Given the description of an element on the screen output the (x, y) to click on. 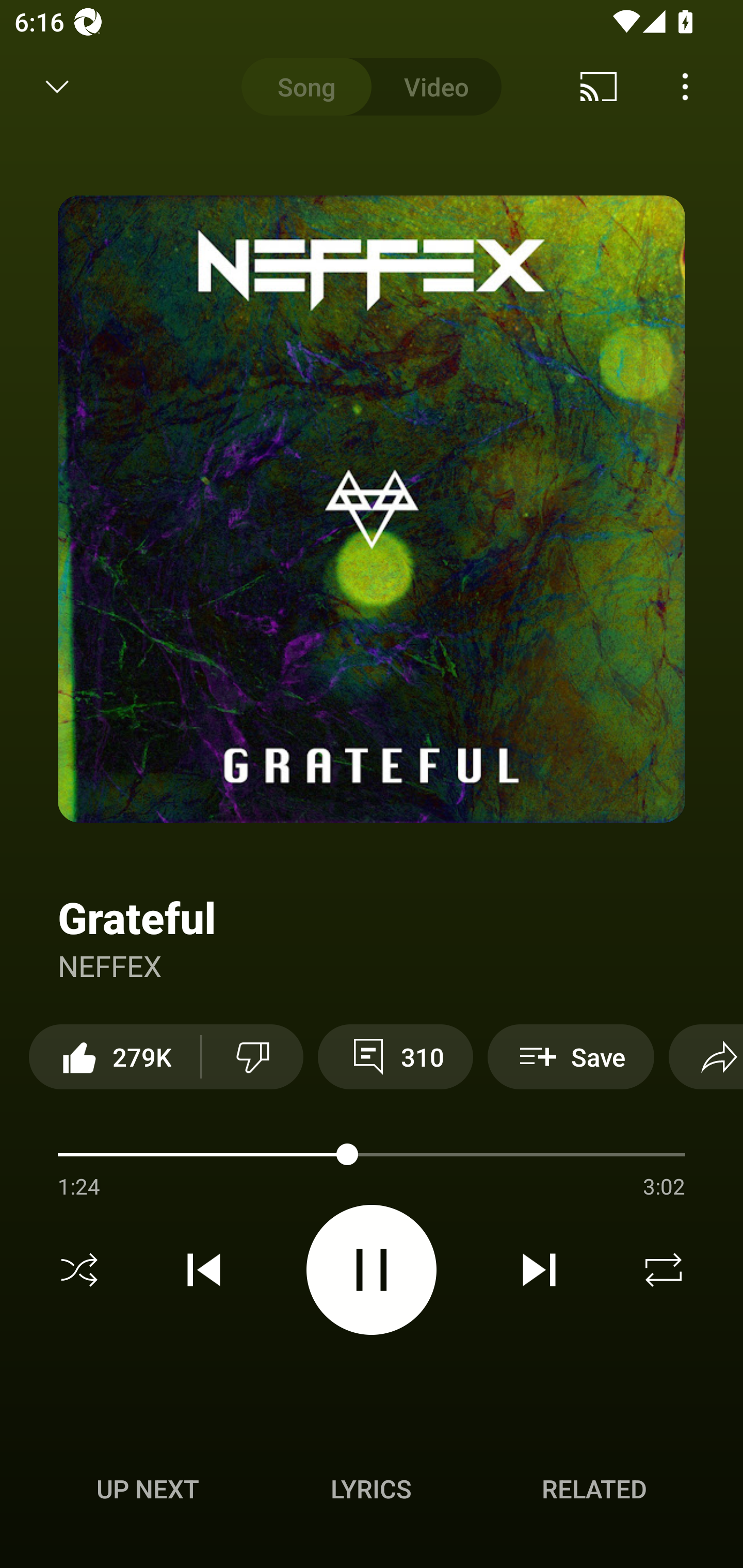
Minimize (57, 86)
Cast. Disconnected (598, 86)
Menu (684, 86)
Dislike (252, 1056)
310 View 310 comments (395, 1056)
Save Save to playlist (570, 1056)
Share (705, 1056)
Pause video (371, 1269)
Shuffle off (79, 1269)
Previous track (203, 1269)
Next track (538, 1269)
Repeat off (663, 1269)
Up next UP NEXT Lyrics LYRICS Related RELATED (371, 1491)
Lyrics LYRICS (370, 1488)
Related RELATED (594, 1488)
